Given the description of an element on the screen output the (x, y) to click on. 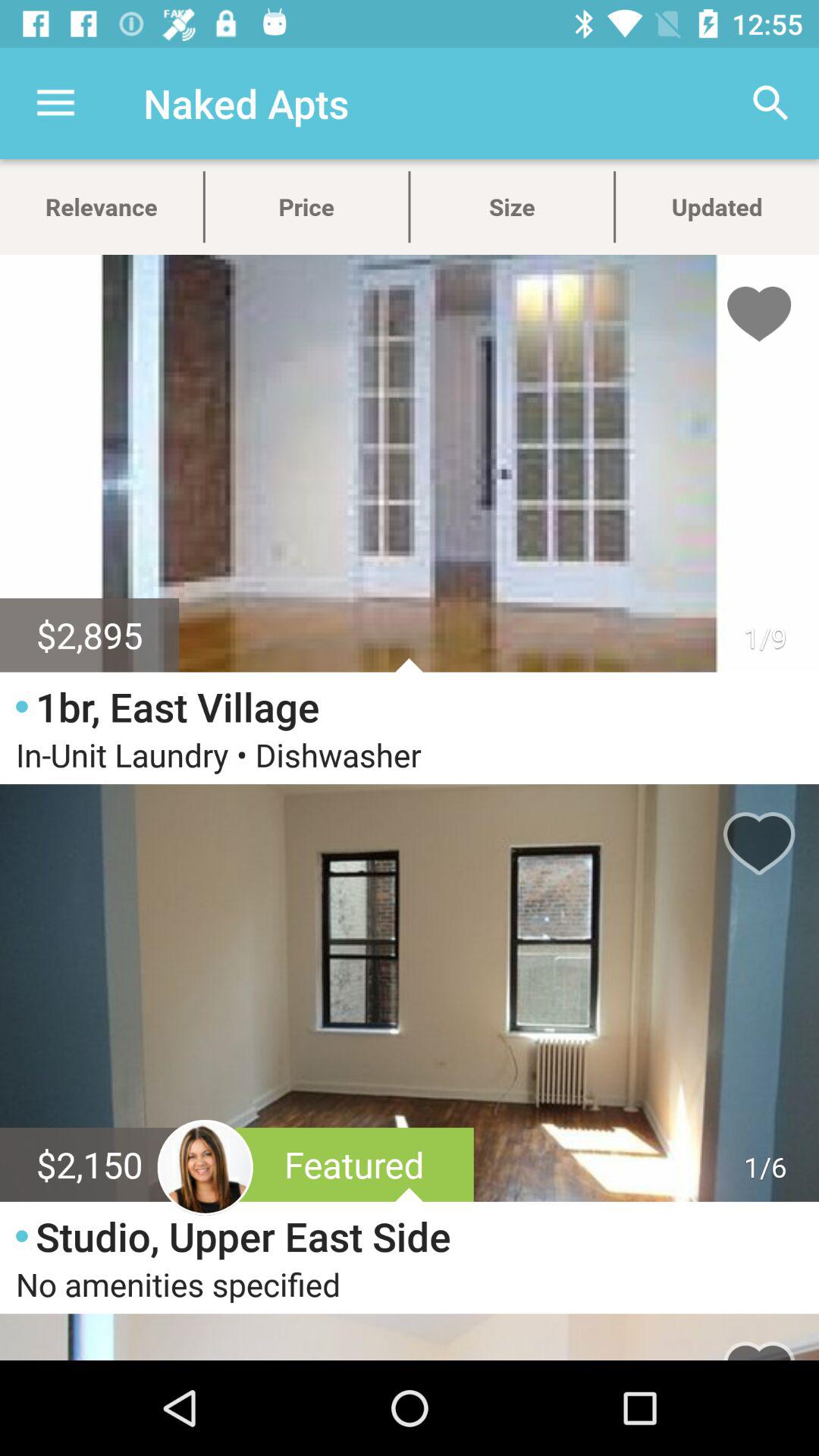
swipe to the size (512, 206)
